Given the description of an element on the screen output the (x, y) to click on. 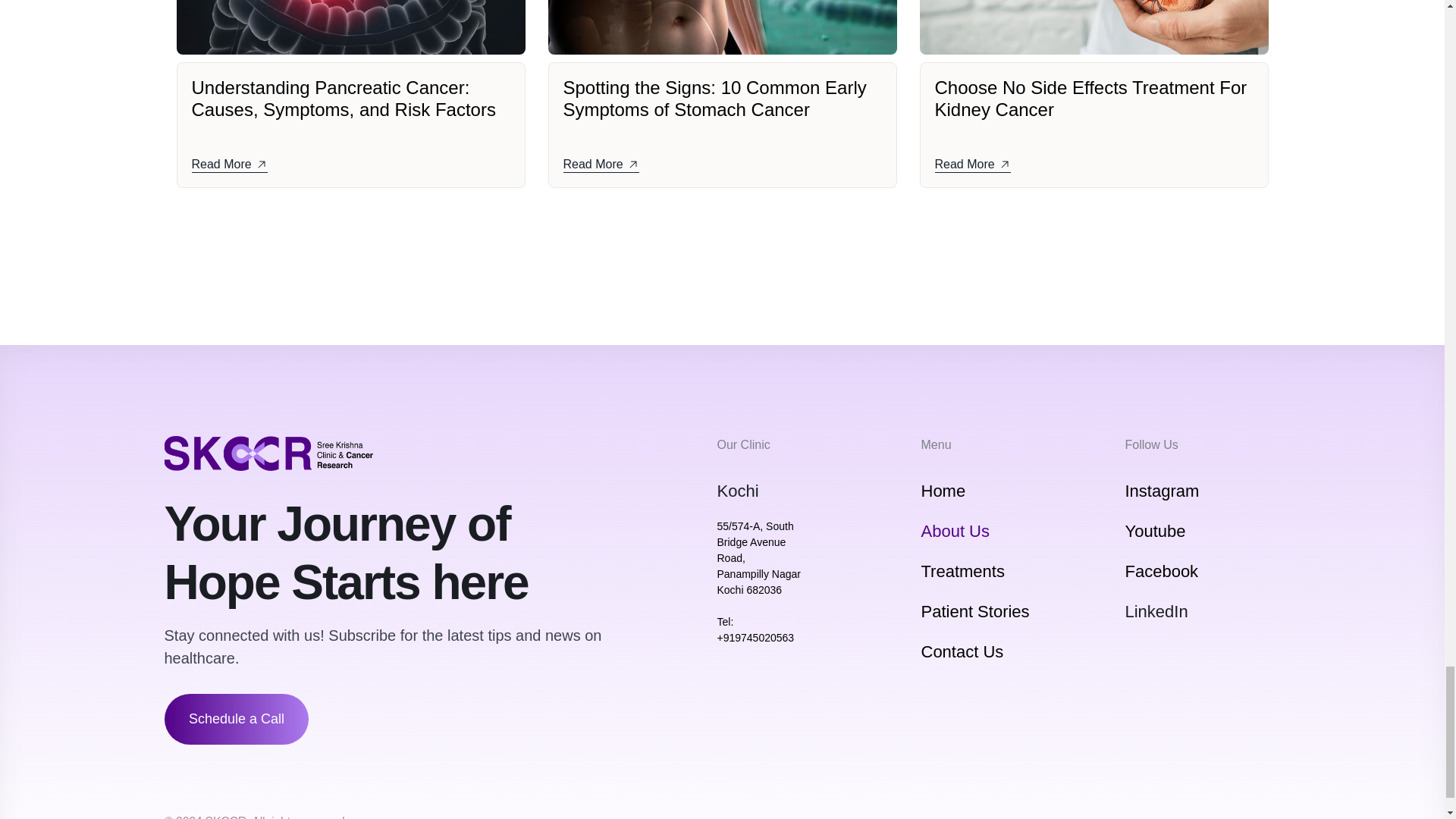
Contact Us (961, 651)
Explore More (721, 247)
Schedule a Call (235, 718)
Instagram (1162, 490)
Home (942, 490)
Patient Stories (974, 610)
Read More (228, 165)
Youtube (1155, 530)
